Given the description of an element on the screen output the (x, y) to click on. 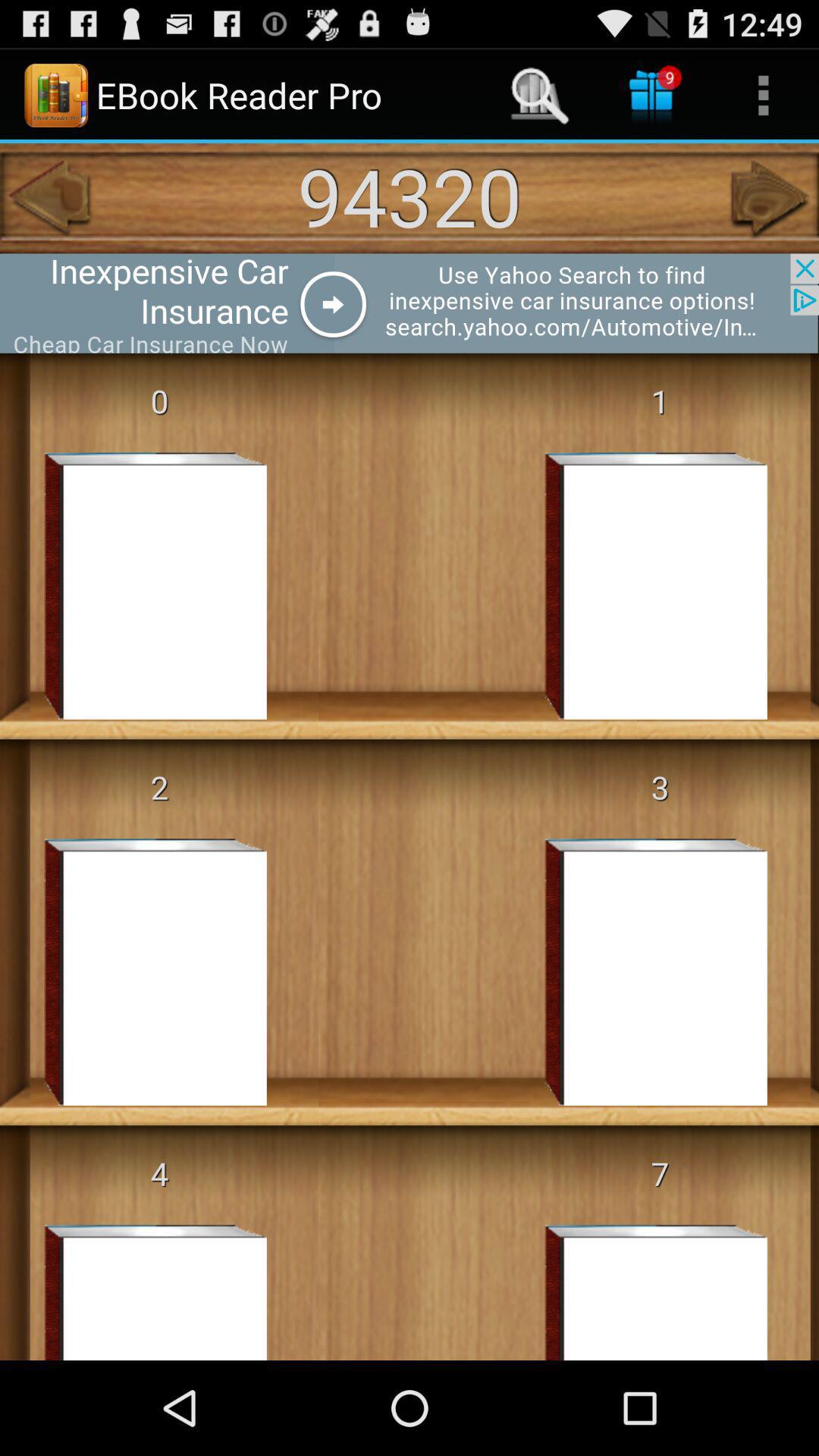
select the app above 94320 icon (540, 95)
